Given the description of an element on the screen output the (x, y) to click on. 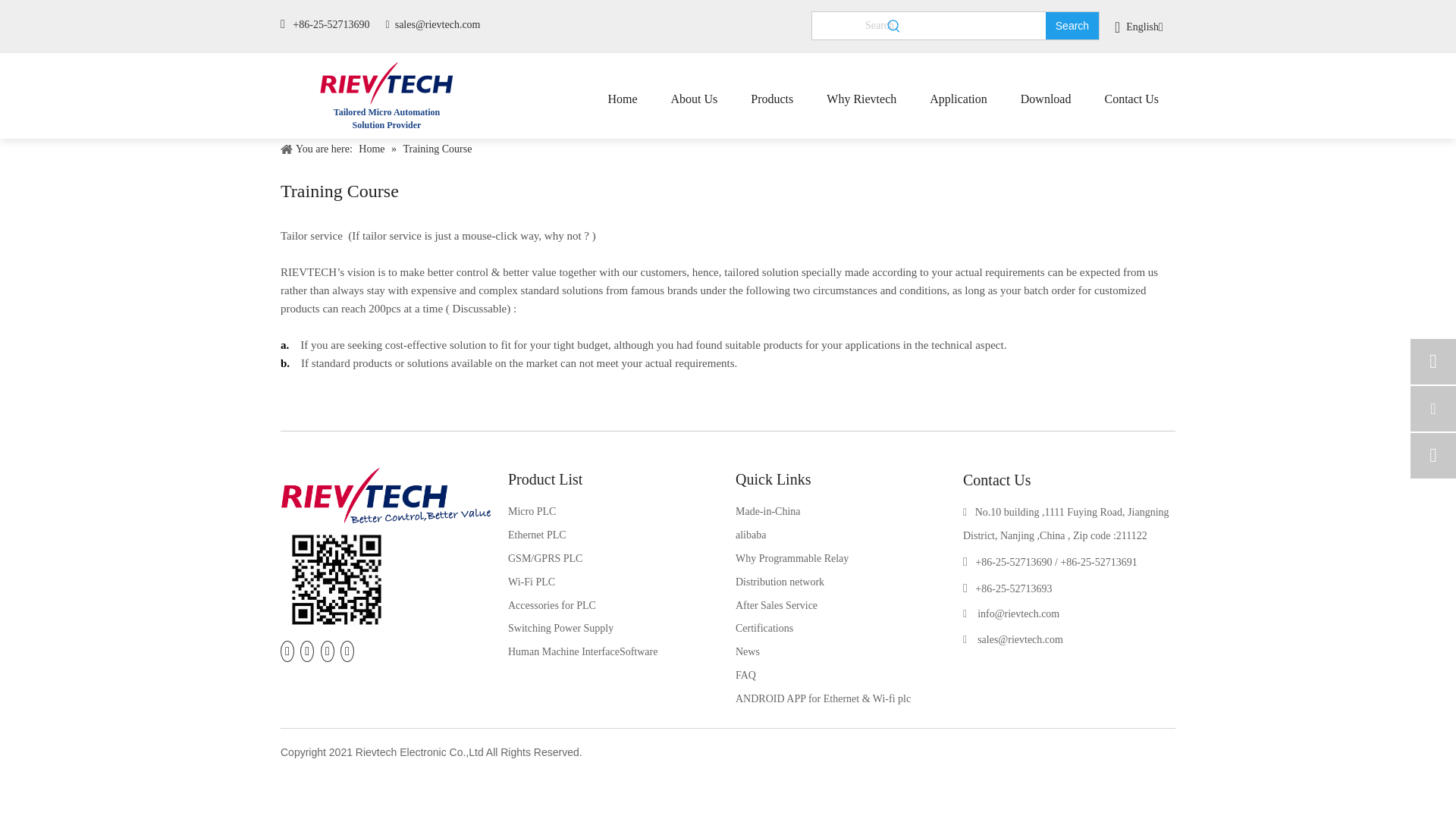
Ethernet PLC (537, 534)
Accessories for PLC (551, 604)
alibaba (750, 534)
Distribution network (779, 582)
Made-in-China (767, 511)
Why Programmable Relay (791, 558)
After Sales Service (775, 604)
Certifications (764, 627)
Switching Power Supply (560, 627)
Micro PLC (532, 511)
